Given the description of an element on the screen output the (x, y) to click on. 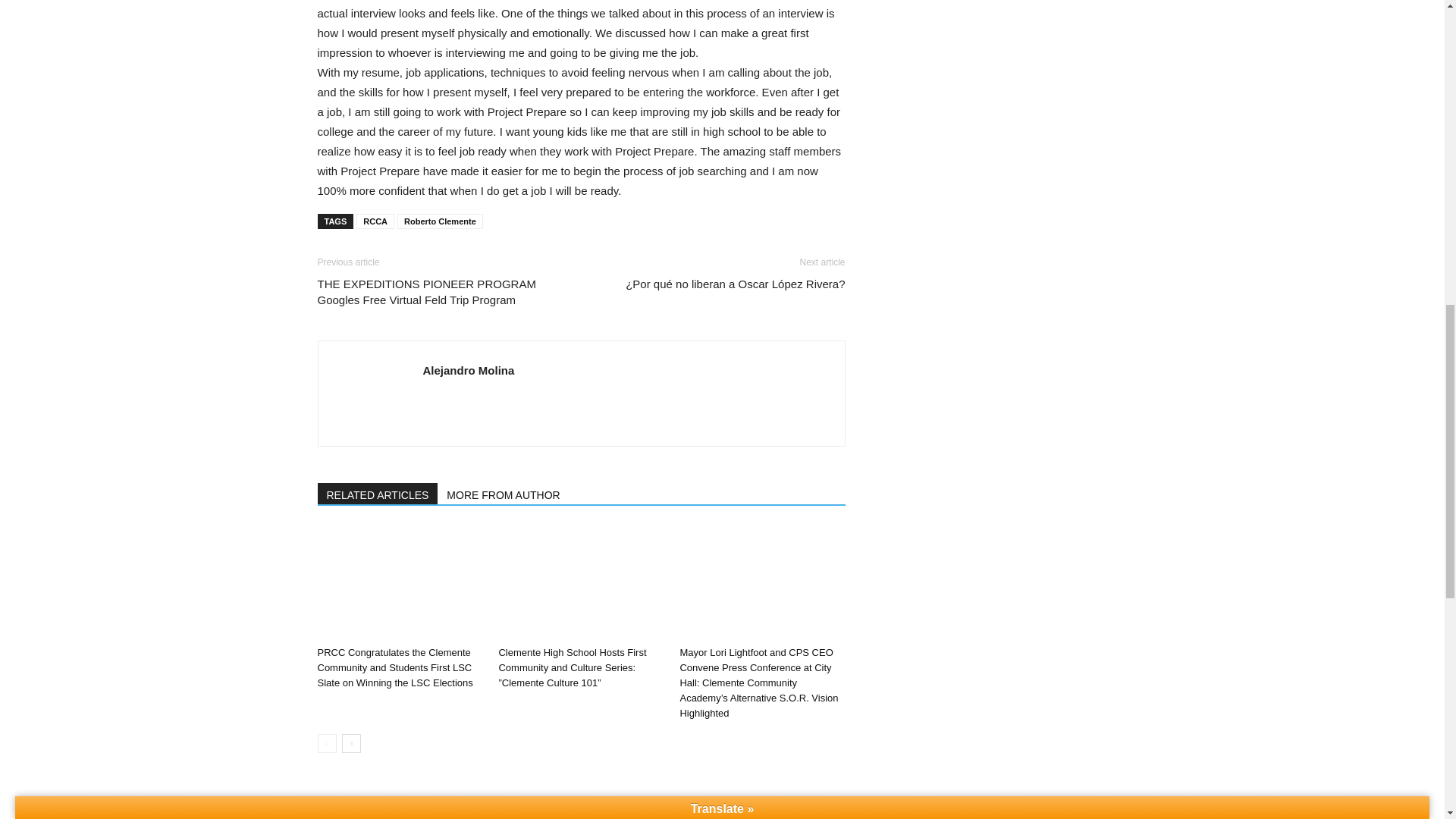
RELATED ARTICLES (377, 493)
Roberto Clemente (440, 221)
RCCA (375, 221)
Alejandro Molina (469, 369)
MORE FROM AUTHOR (503, 493)
